Given the description of an element on the screen output the (x, y) to click on. 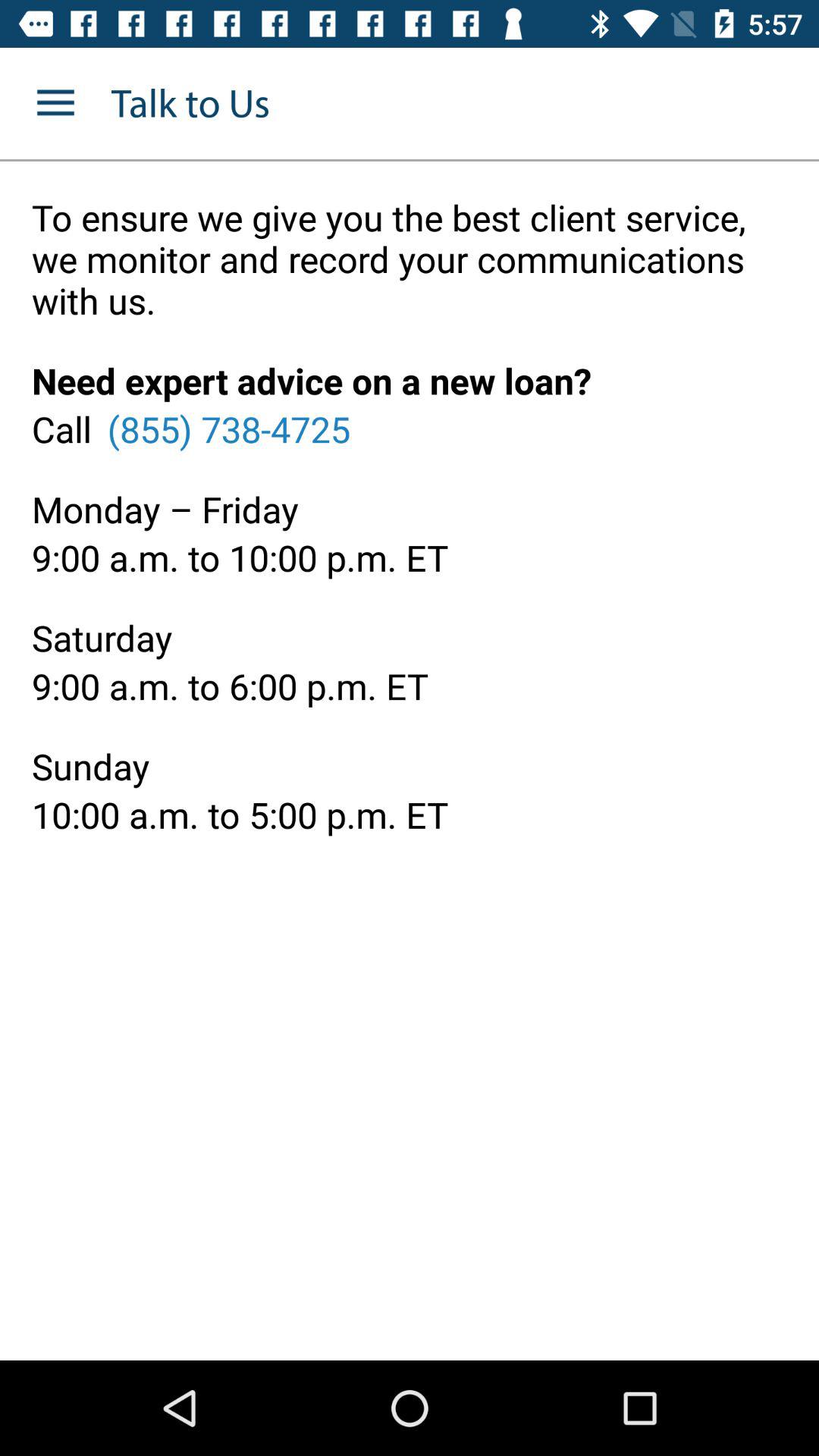
turn off the (855) 738-4725 item (228, 428)
